Given the description of an element on the screen output the (x, y) to click on. 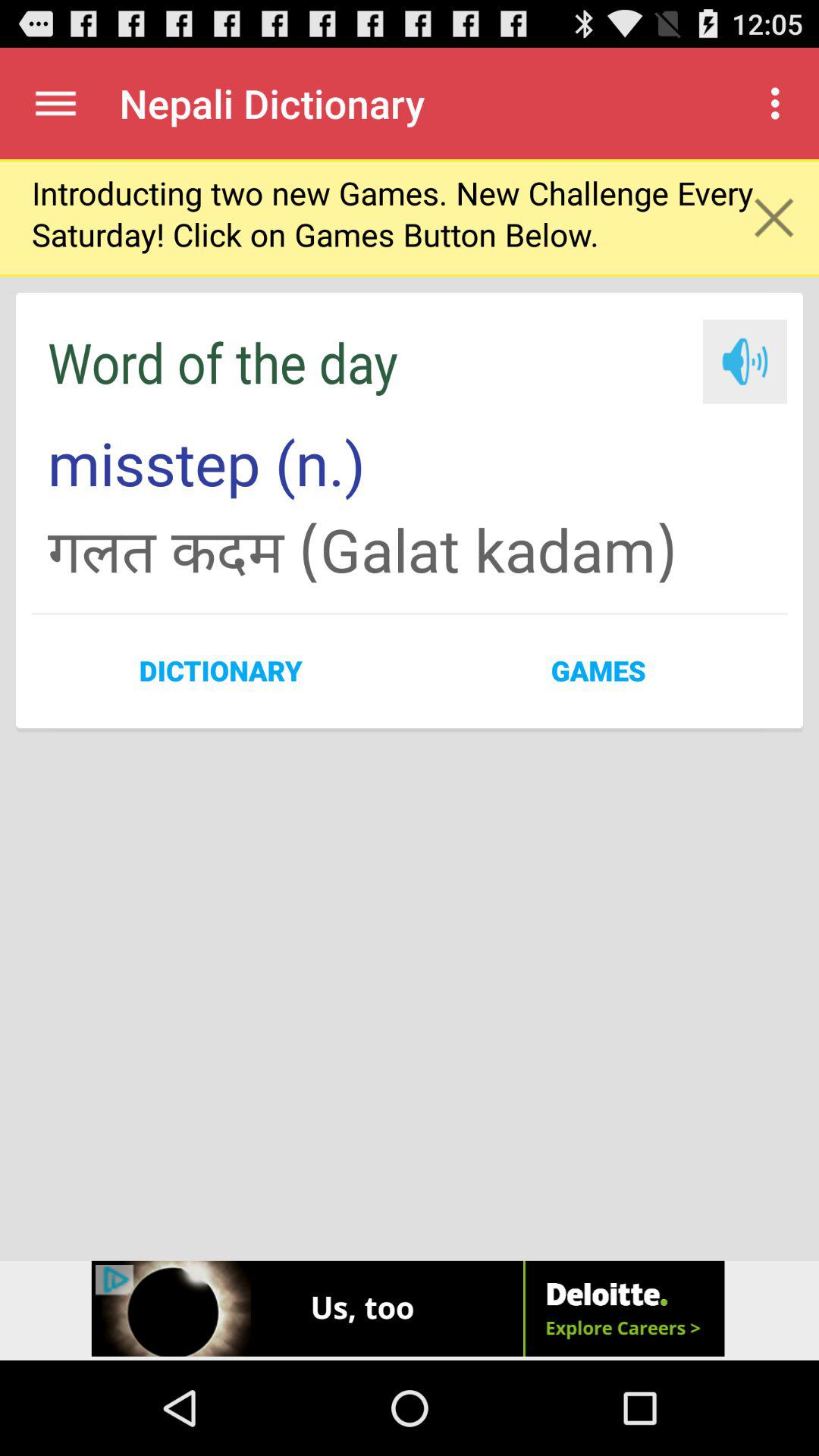
view the website shown in the advertisement (409, 1310)
